Given the description of an element on the screen output the (x, y) to click on. 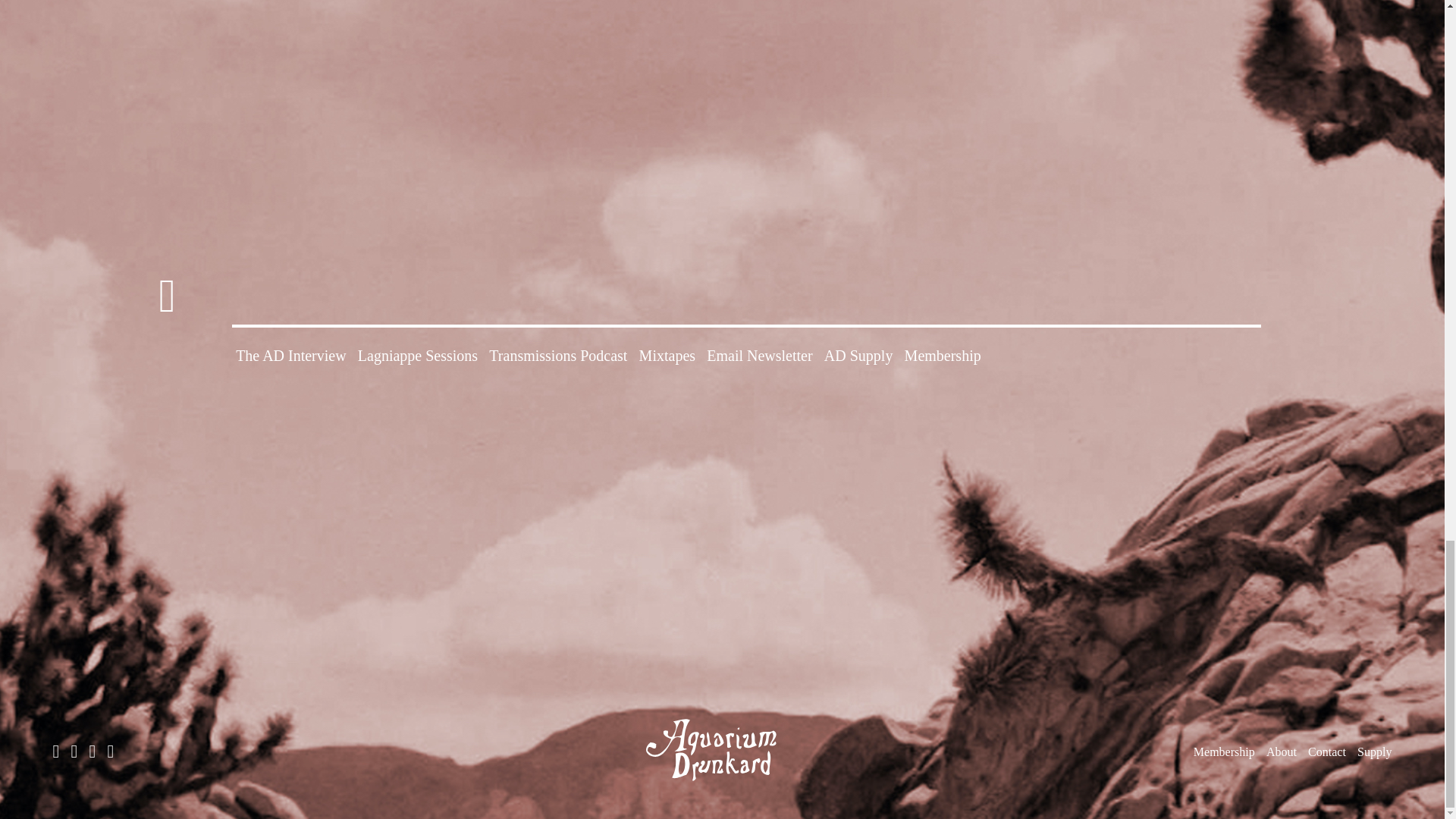
Transmissions Podcast (558, 355)
About Aquarium Drunkard (1281, 751)
Lagniappe Sessions (417, 355)
Aquarium Drunkard (721, 750)
Membership (942, 355)
Aquarium Drunkard Merch Shop (1373, 751)
Mixtapes (667, 355)
Contact Aquarium Drunkard (1326, 751)
AD Supply (858, 355)
Email Newsletter (759, 355)
The AD Interview (290, 355)
